Given the description of an element on the screen output the (x, y) to click on. 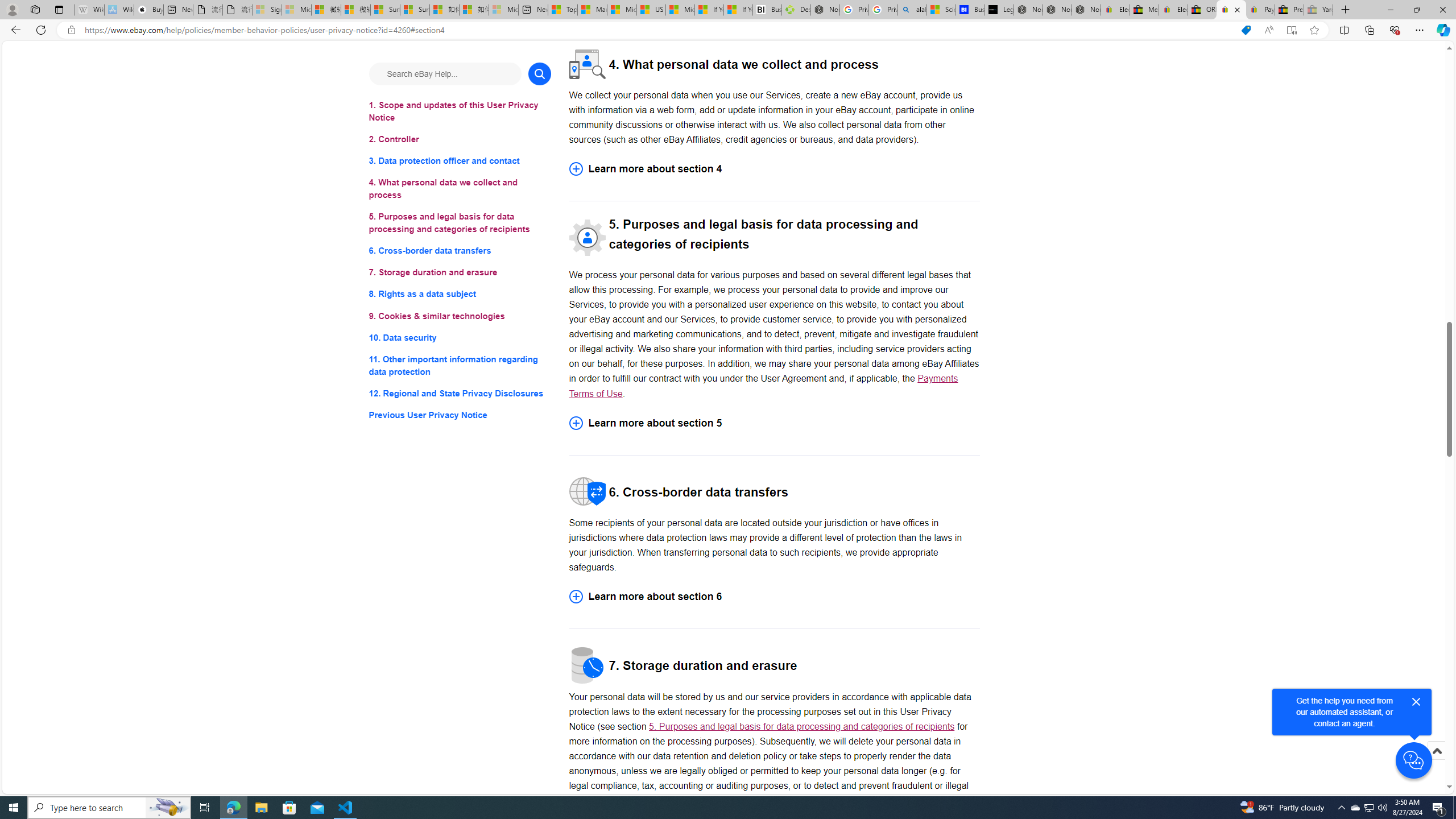
Learn more about section 6 (774, 596)
Scroll to top (1435, 762)
1. Scope and updates of this User Privacy Notice (459, 111)
1. Scope and updates of this User Privacy Notice (459, 111)
8. Rights as a data subject (459, 293)
